Given the description of an element on the screen output the (x, y) to click on. 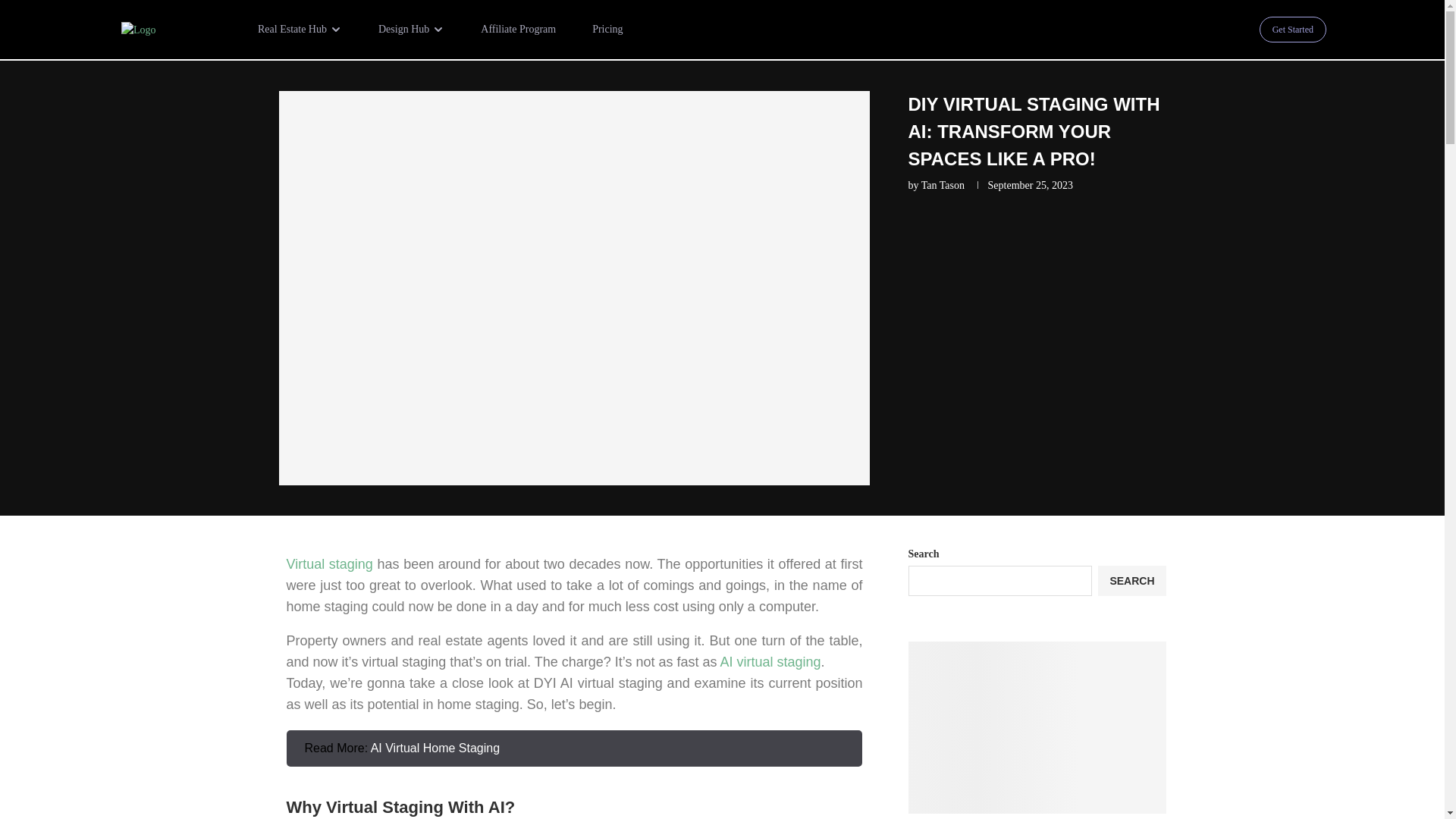
Tan Tason (942, 184)
Pricing (607, 29)
Virtual staging (329, 563)
AI virtual staging (770, 661)
Affiliate Program (518, 29)
AI Virtual Home Staging (435, 748)
Get Started (1292, 29)
